Given the description of an element on the screen output the (x, y) to click on. 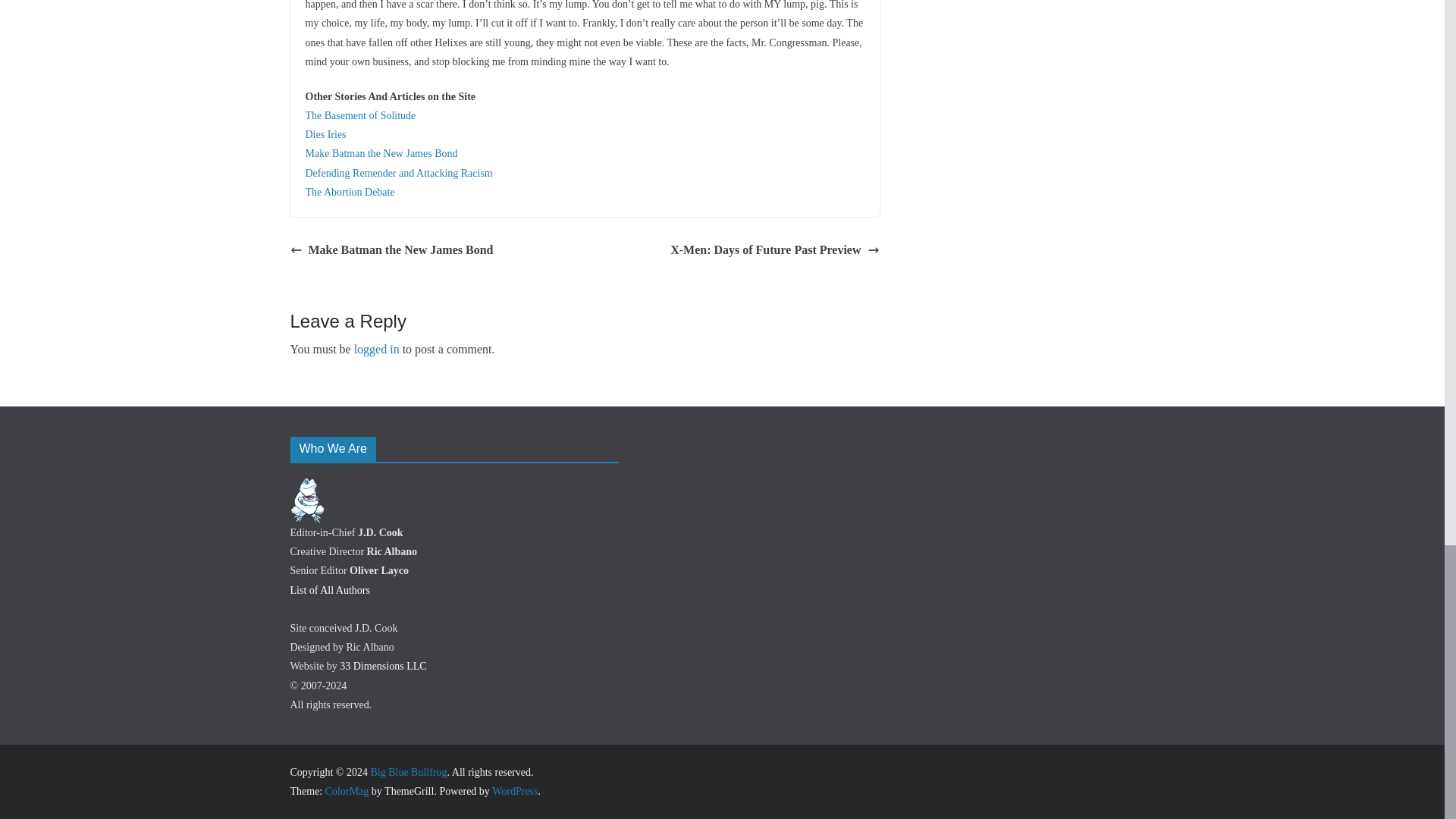
Make Batman the New James Bond (380, 153)
Big Blue Bullfrog (407, 772)
The Basement of Solitude (359, 115)
Defending Remender and Attacking Racism (398, 173)
WordPress (514, 790)
ColorMag (346, 790)
